Given the description of an element on the screen output the (x, y) to click on. 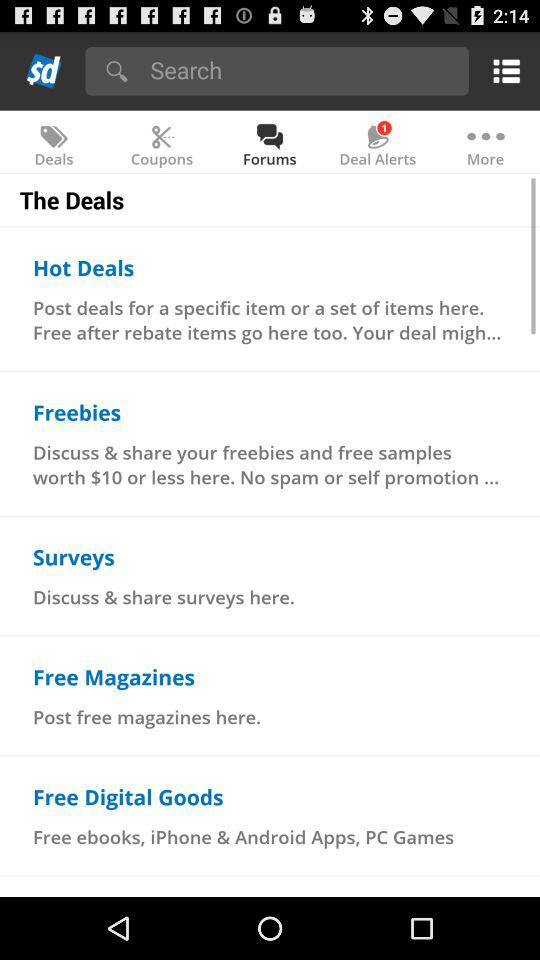
jump until the free digital goods icon (128, 796)
